Given the description of an element on the screen output the (x, y) to click on. 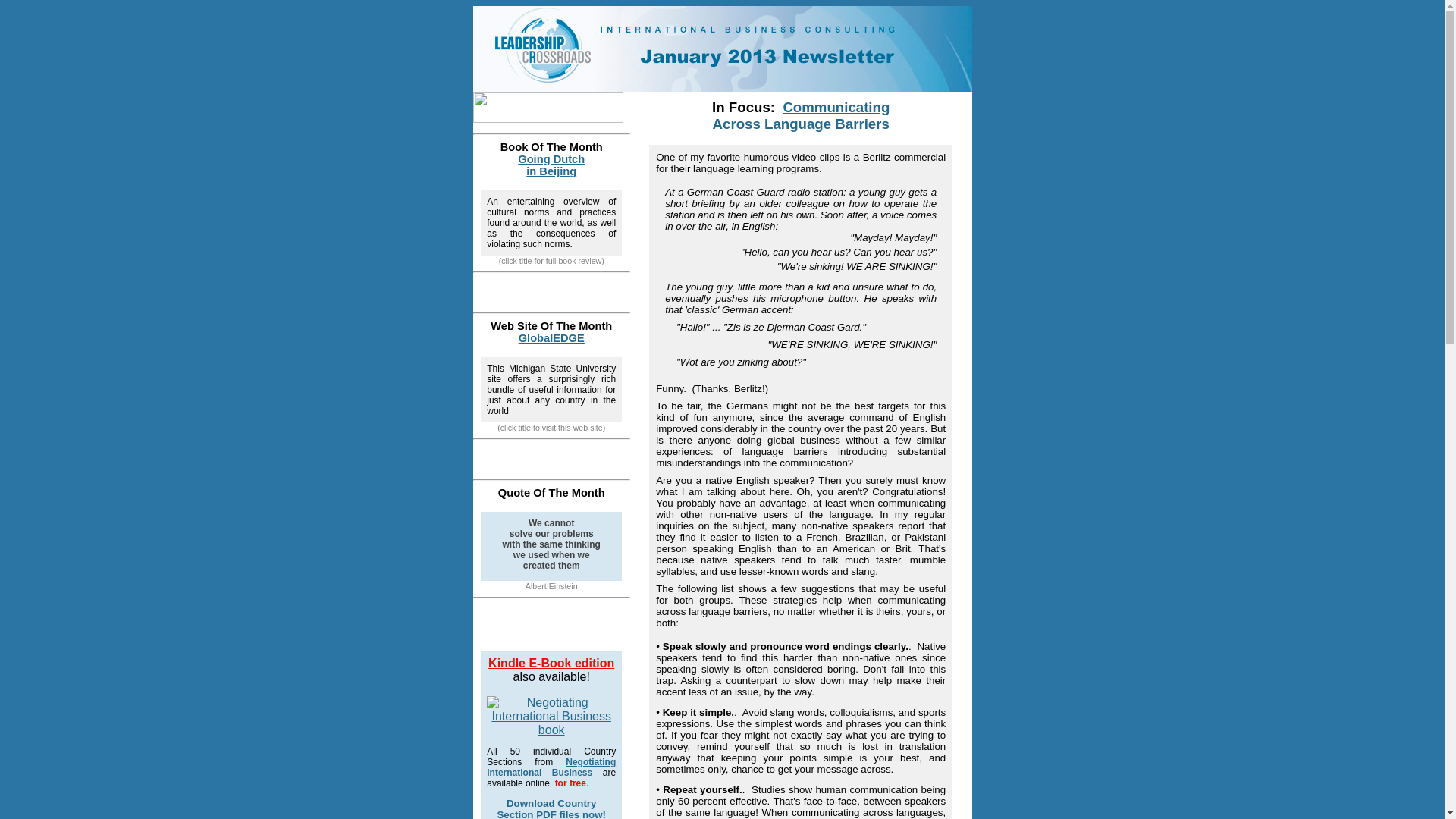
Download Country Sections (801, 115)
Download Country Section PDF files now! (550, 808)
Click to visit our home page (551, 165)
Click to learn more! (550, 808)
Kindle E-Book edition (722, 48)
Click to read the book review (550, 767)
Click to open PDF version (550, 662)
Click for more information (551, 165)
Negotiating International Business (801, 115)
GlobalEDGE (550, 716)
Click to visit this website (550, 767)
Click to learn more! (551, 337)
